Given the description of an element on the screen output the (x, y) to click on. 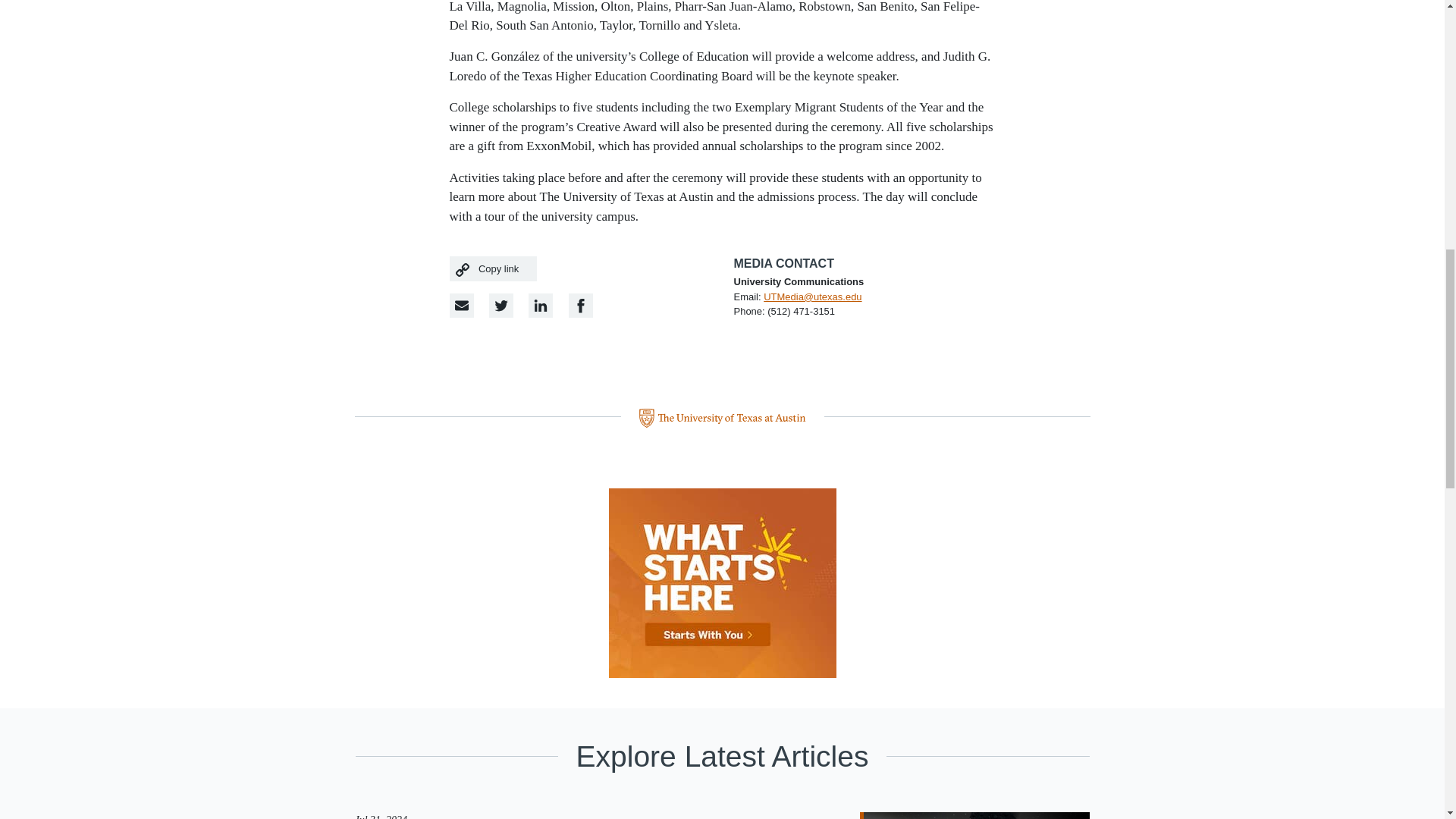
Copy link (492, 268)
Facebook Share Link (540, 305)
Email Share Link (460, 305)
Twitter Share Link (501, 305)
